Given the description of an element on the screen output the (x, y) to click on. 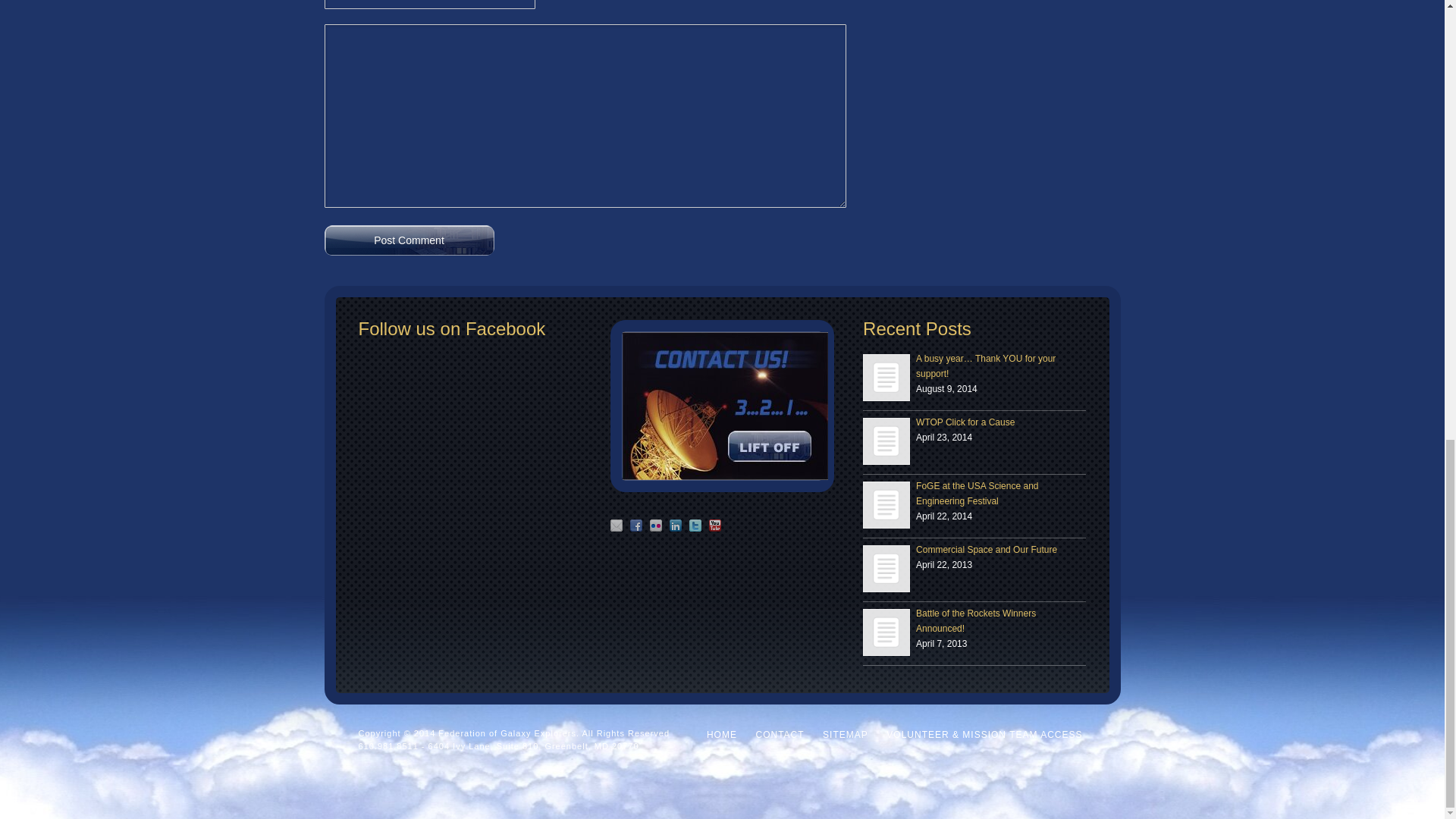
Follow Us on Facebook (636, 525)
WTOP Click for a Cause (885, 441)
Post Comment (409, 240)
Follow Us on LinkedIn (675, 525)
Follow Us on Flickr (655, 525)
Follow Us on YouTube (714, 525)
Follow Us on Email (616, 525)
WTOP Click for a Cause (886, 441)
Follow Us on Twitter (694, 525)
